Given the description of an element on the screen output the (x, y) to click on. 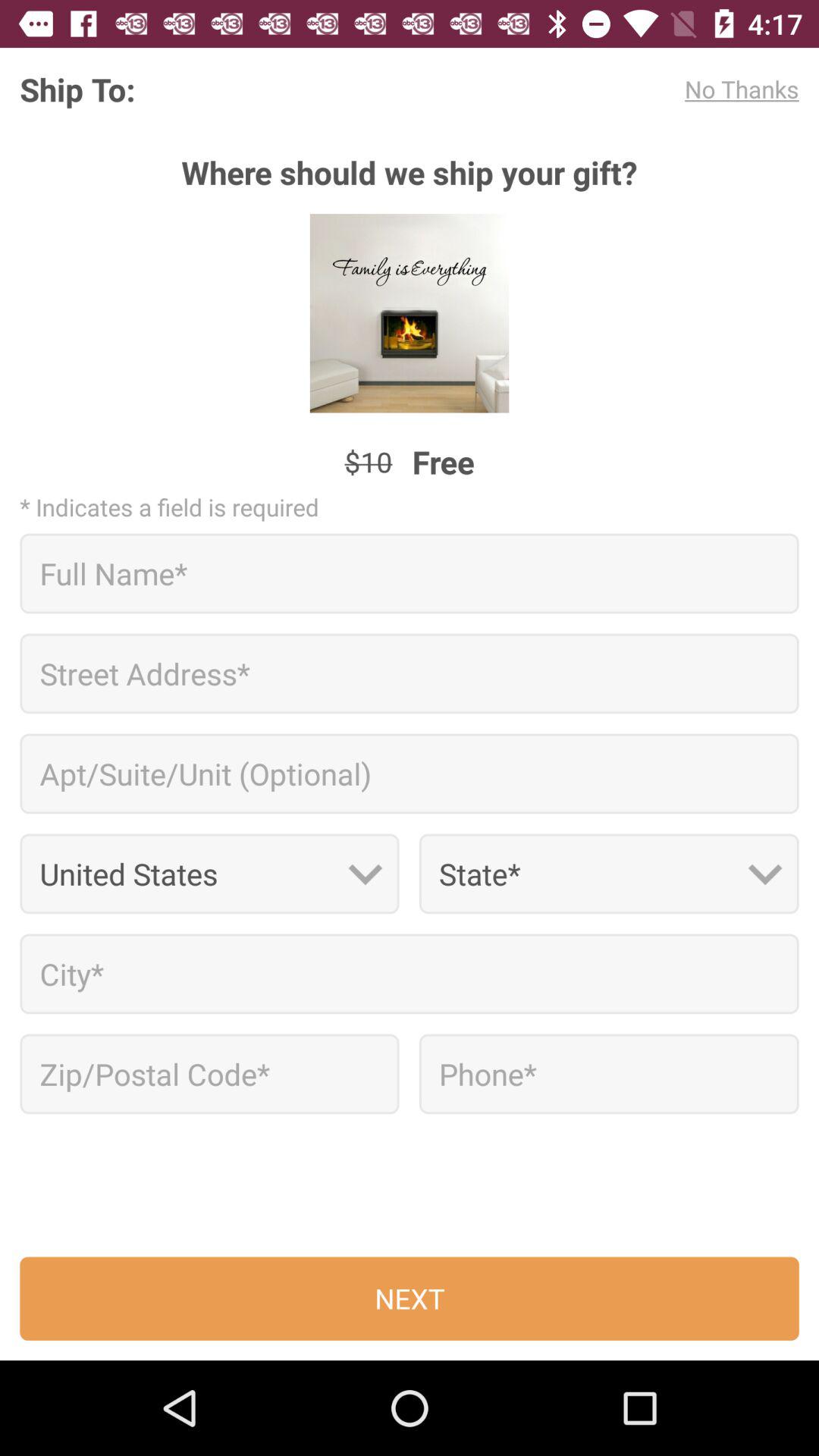
enter street address (409, 673)
